Given the description of an element on the screen output the (x, y) to click on. 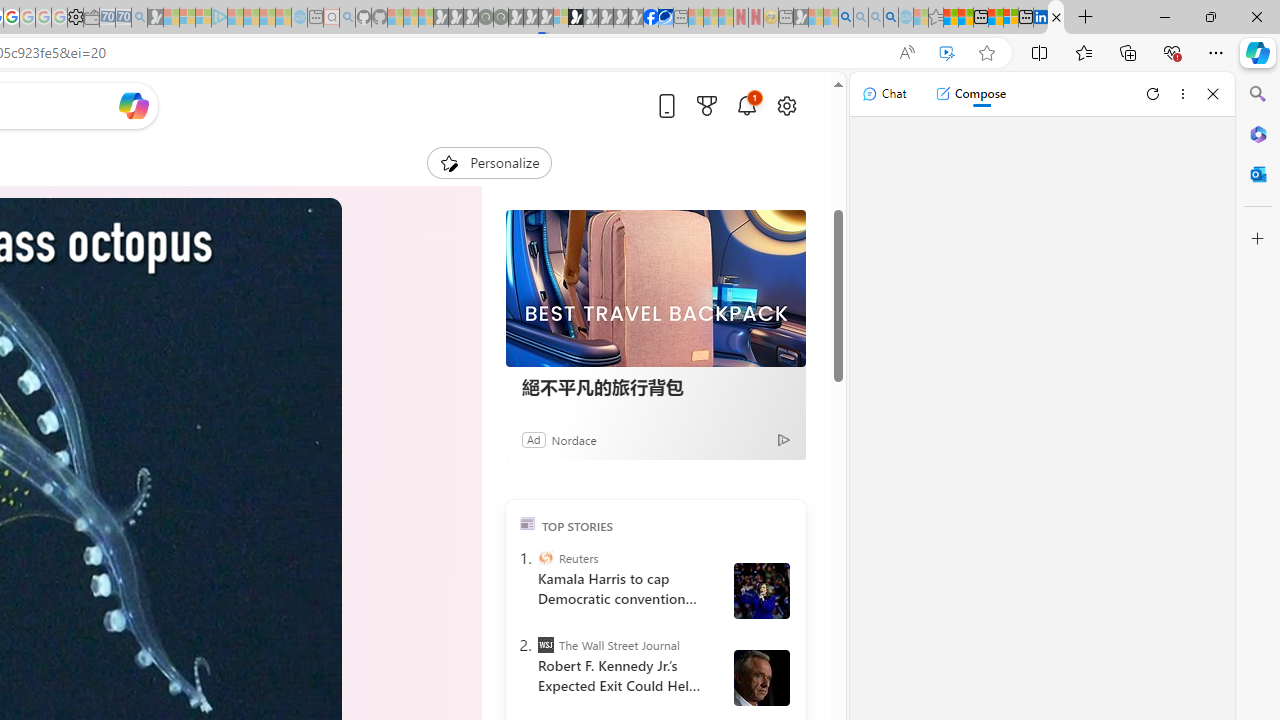
Open settings (786, 105)
Favorites - Sleeping (936, 17)
Future Focus Report 2024 - Sleeping (501, 17)
